Given the description of an element on the screen output the (x, y) to click on. 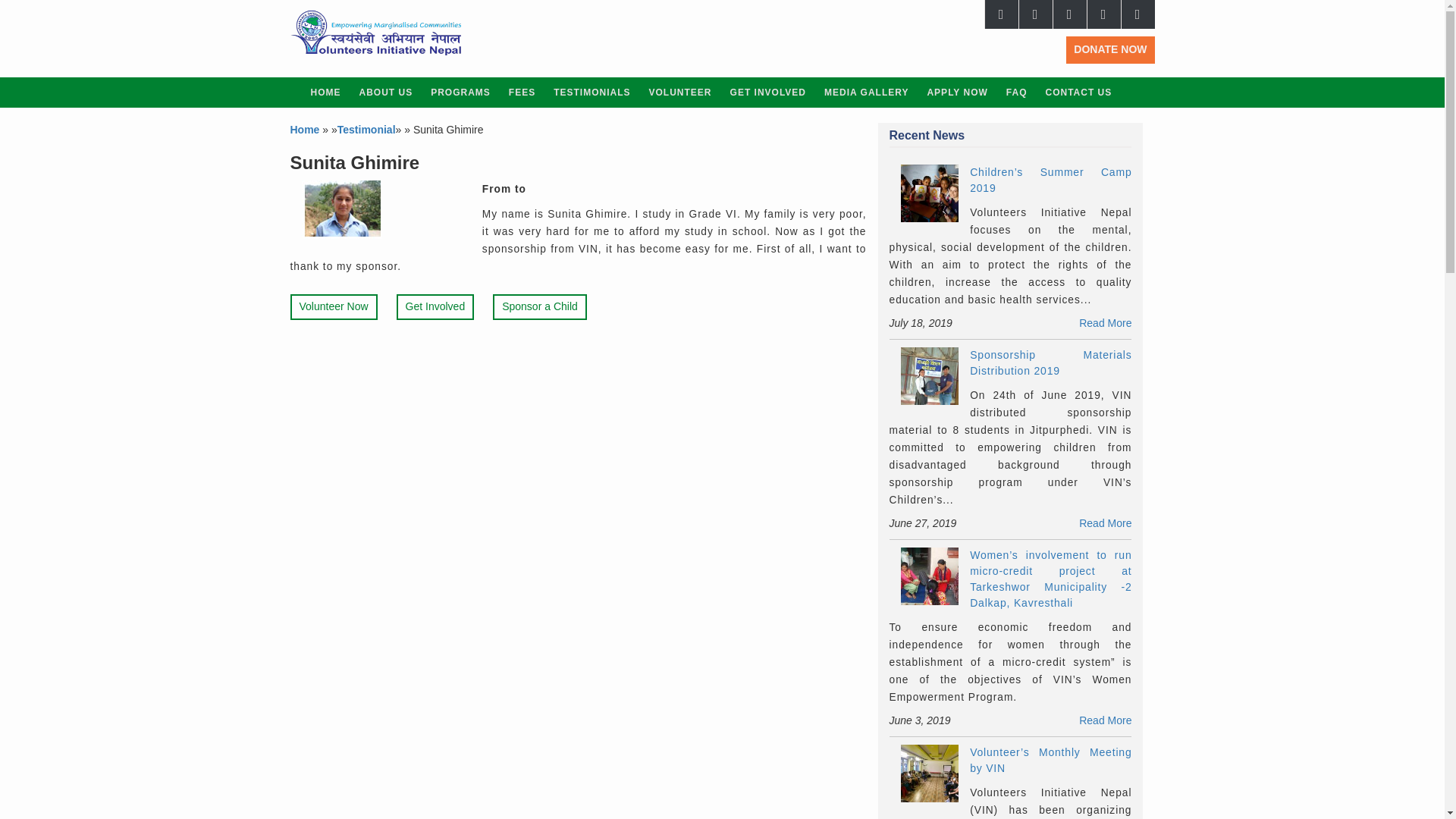
FEES (521, 91)
twitter (1035, 14)
FAQ (1016, 91)
PROGRAMS (460, 91)
DONATE NOW (1109, 49)
ABOUT US (386, 91)
HOME (325, 91)
CONTACT US (1078, 91)
Home (305, 129)
Volunteer Now (333, 307)
TESTIMONIALS (591, 91)
GET INVOLVED (767, 91)
MEDIA GALLERY (866, 91)
facebook (1000, 14)
Get Involved (435, 307)
